Given the description of an element on the screen output the (x, y) to click on. 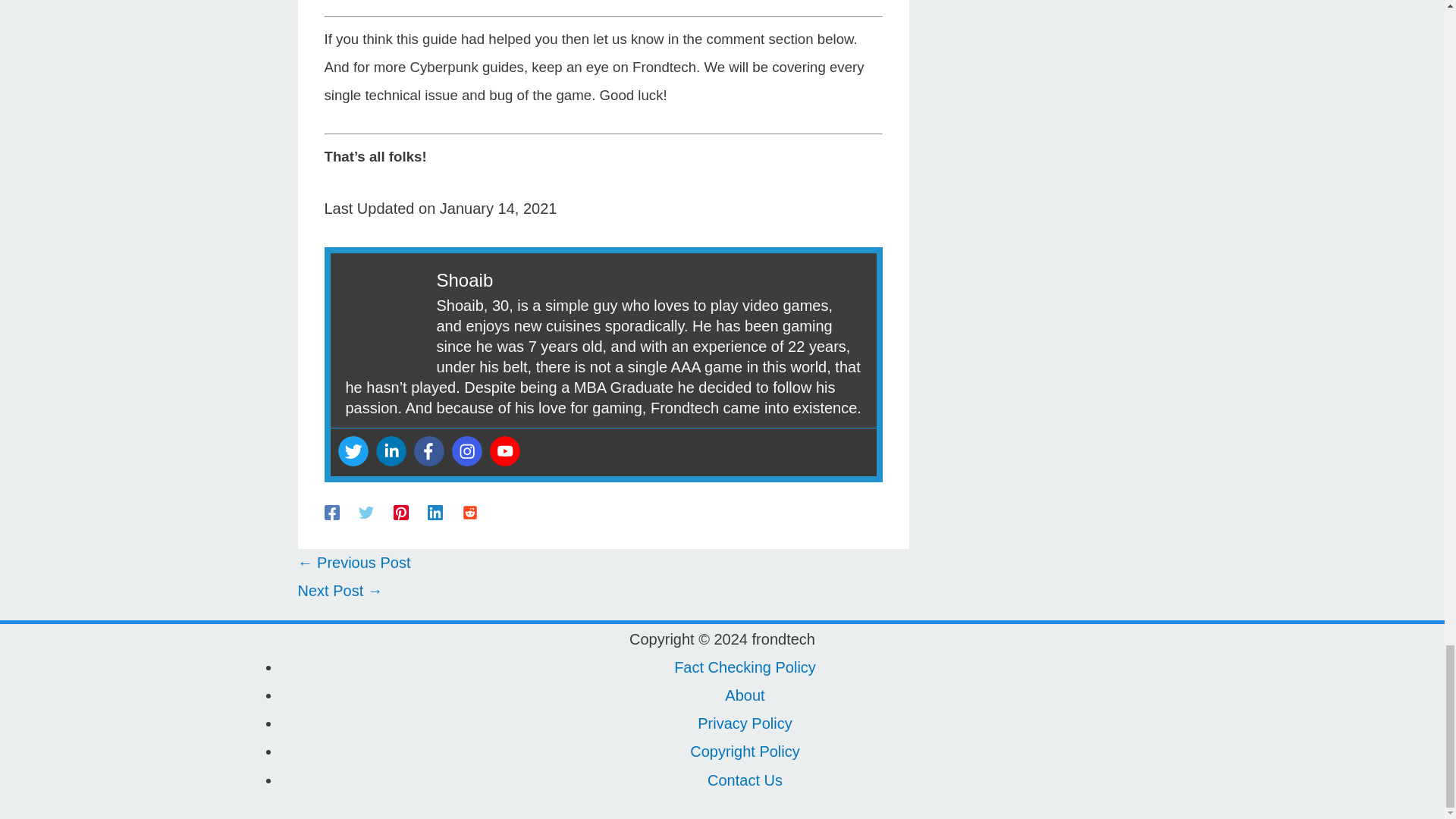
Instagram (466, 450)
Youtube (504, 450)
Twitter (352, 450)
Shoaib (464, 280)
Facebook (428, 450)
Linkedin (390, 450)
